Given the description of an element on the screen output the (x, y) to click on. 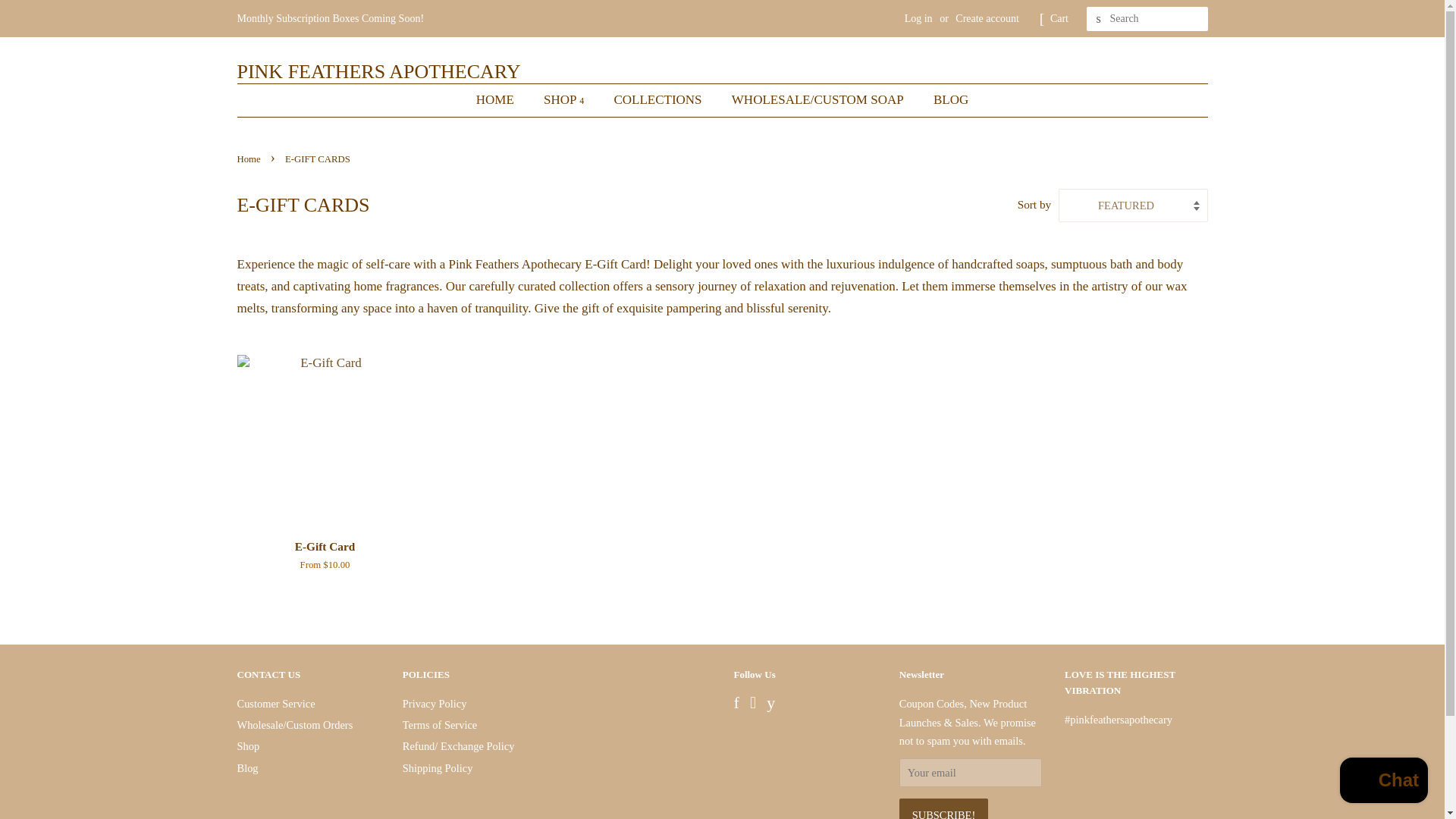
Subscribe! (943, 808)
Cart (1058, 18)
SEARCH (1097, 18)
SHOP (565, 100)
Log in (918, 18)
PINK FEATHERS APOTHECARY (377, 71)
HOME (502, 100)
Create account (987, 18)
Back to the frontpage (249, 158)
Shopify online store chat (1383, 781)
